Given the description of an element on the screen output the (x, y) to click on. 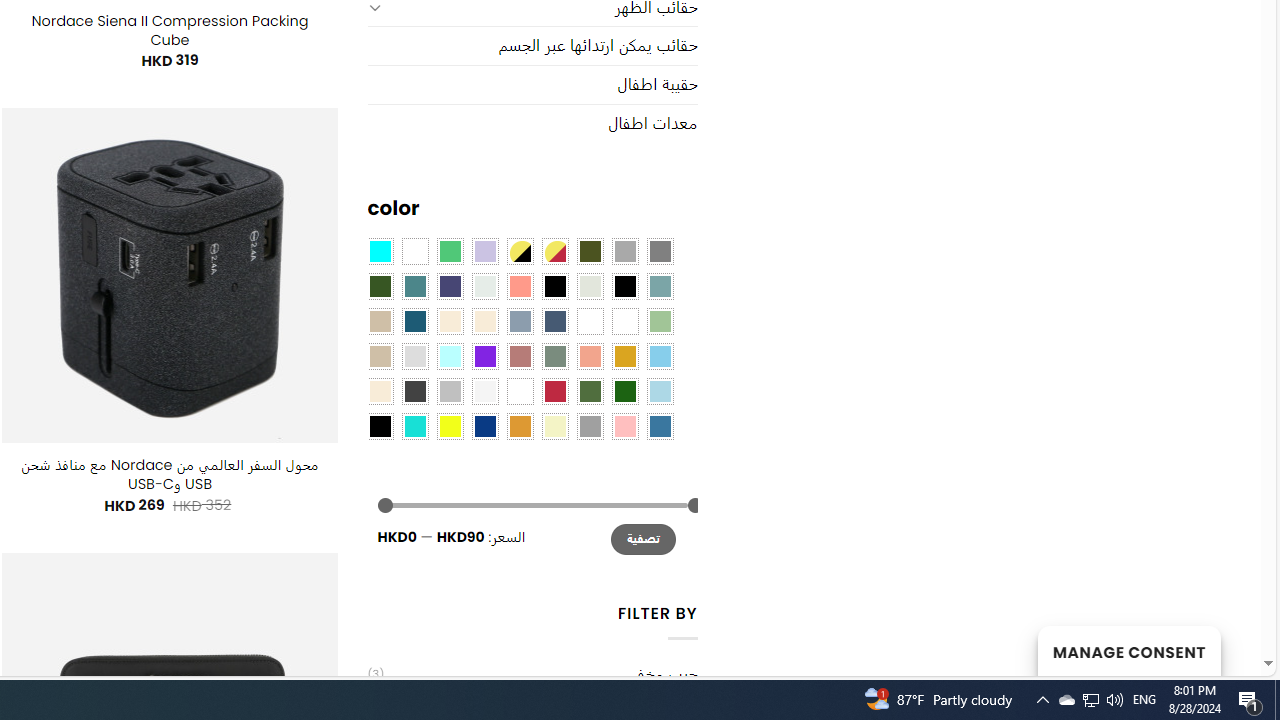
Emerald Green (449, 251)
Yellow-Black (519, 251)
Teal (414, 285)
Purple (484, 355)
Dusty Blue (519, 321)
Aqua Blue (379, 251)
Yellow-Red (554, 251)
Light Taupe (379, 355)
